Given the description of an element on the screen output the (x, y) to click on. 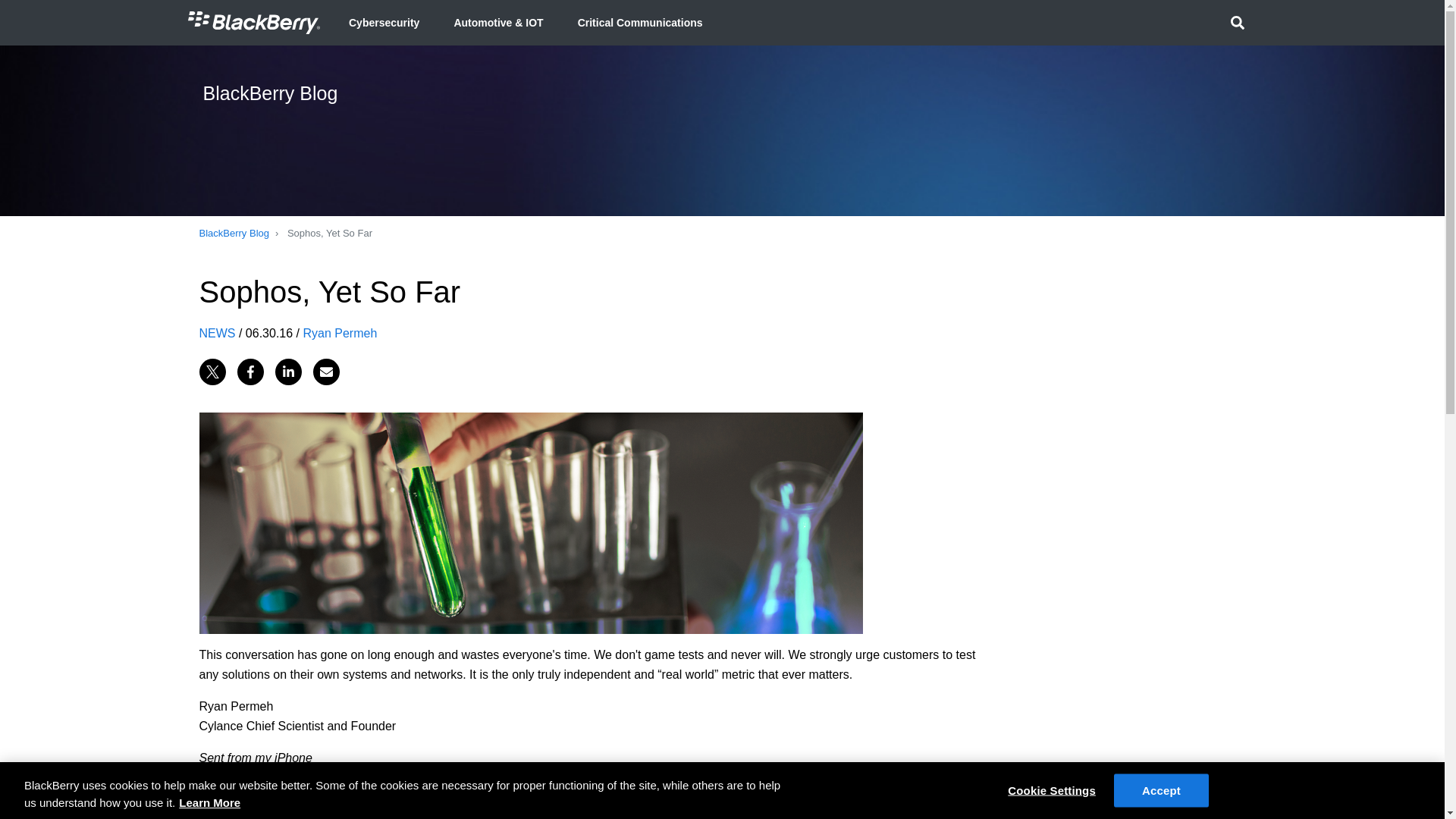
Cybersecurity (383, 22)
Critical Communications (639, 22)
BlackBerry Logo (253, 22)
Share on Facebook (249, 370)
Share on LinkedIn (288, 370)
BlackBerry Logo (253, 22)
NEWS (216, 332)
Share on LinkedIn (288, 370)
Share on X (211, 370)
BlackBerry Blog (232, 233)
